Given the description of an element on the screen output the (x, y) to click on. 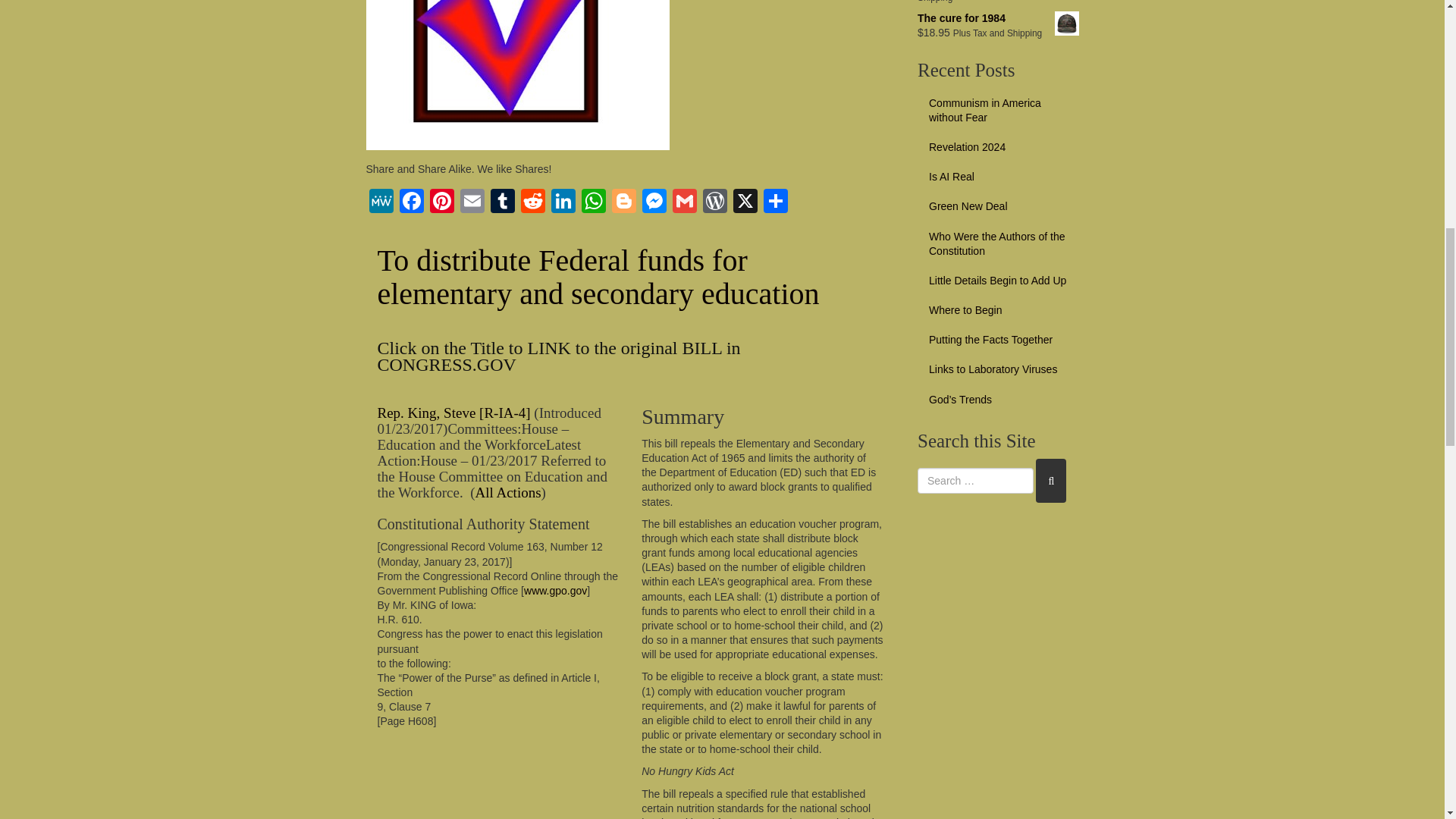
MeWe (380, 203)
LinkedIn (562, 203)
Reddit (531, 203)
Pinterest (441, 203)
Email (471, 203)
Blogger (623, 203)
Tumblr (501, 203)
Messenger (653, 203)
Facebook (411, 203)
WhatsApp (593, 203)
